Given the description of an element on the screen output the (x, y) to click on. 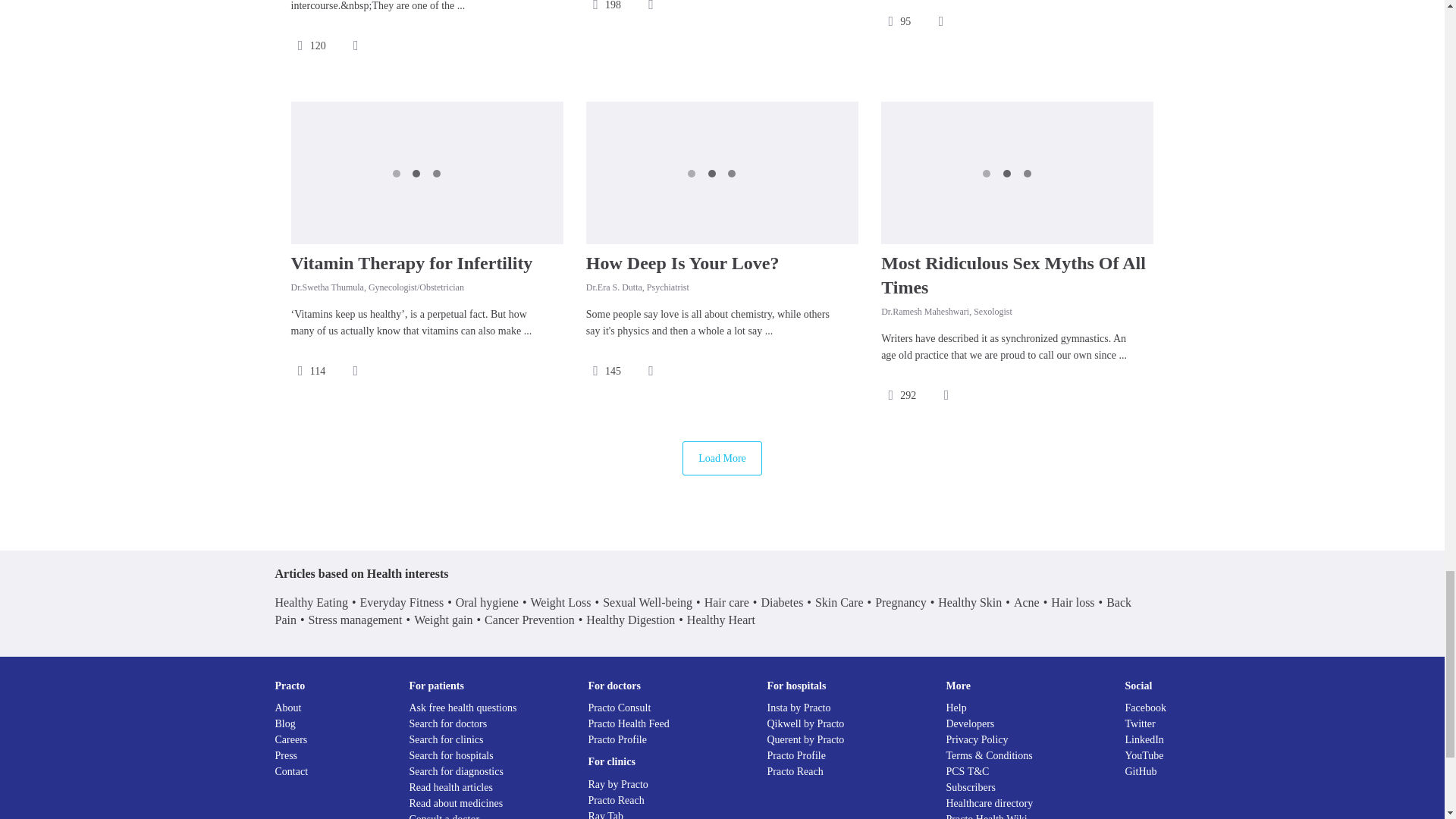
Contact (291, 771)
Read Health Articles (451, 787)
Search for hospitals (451, 755)
Press (286, 755)
Read about medicines (456, 803)
Search for diagnostics (456, 771)
Blog (285, 723)
About (288, 707)
Consult a doctor (444, 816)
Careers (291, 739)
Ask free health questions (462, 707)
Search for doctors (448, 723)
Search for clinics (446, 739)
